Given the description of an element on the screen output the (x, y) to click on. 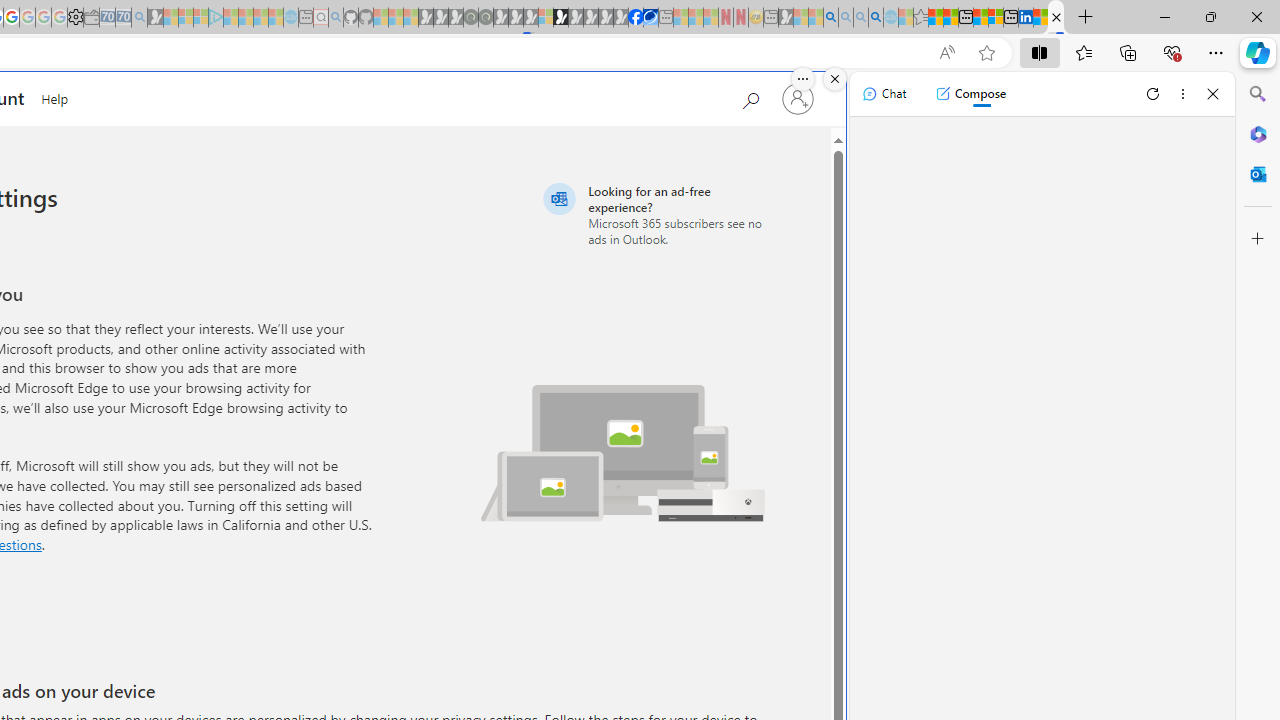
Home | Sky Blue Bikes - Sky Blue Bikes - Sleeping (291, 17)
Illustration of multiple devices (623, 452)
